Given the description of an element on the screen output the (x, y) to click on. 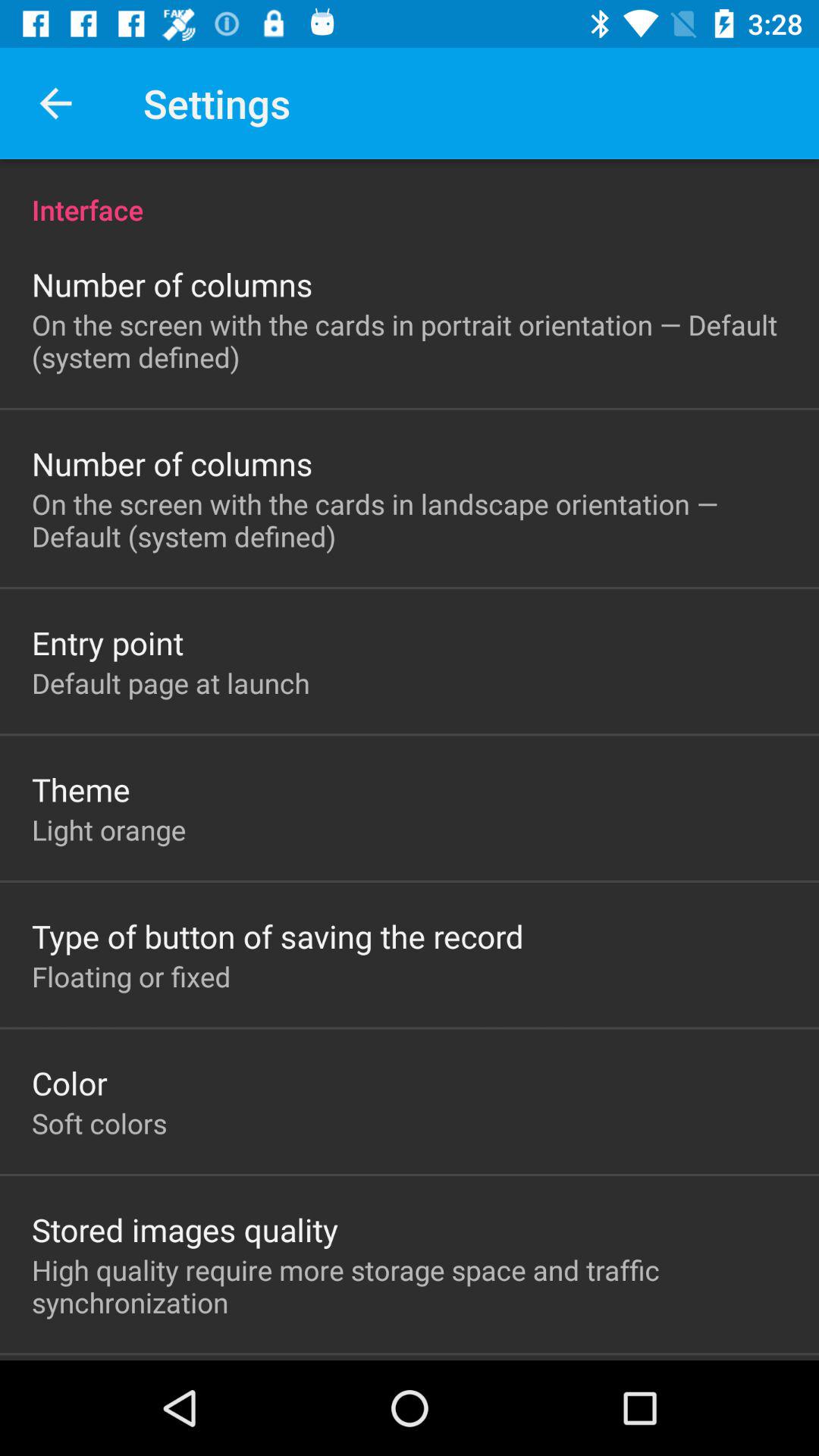
click item next to the settings (55, 103)
